Given the description of an element on the screen output the (x, y) to click on. 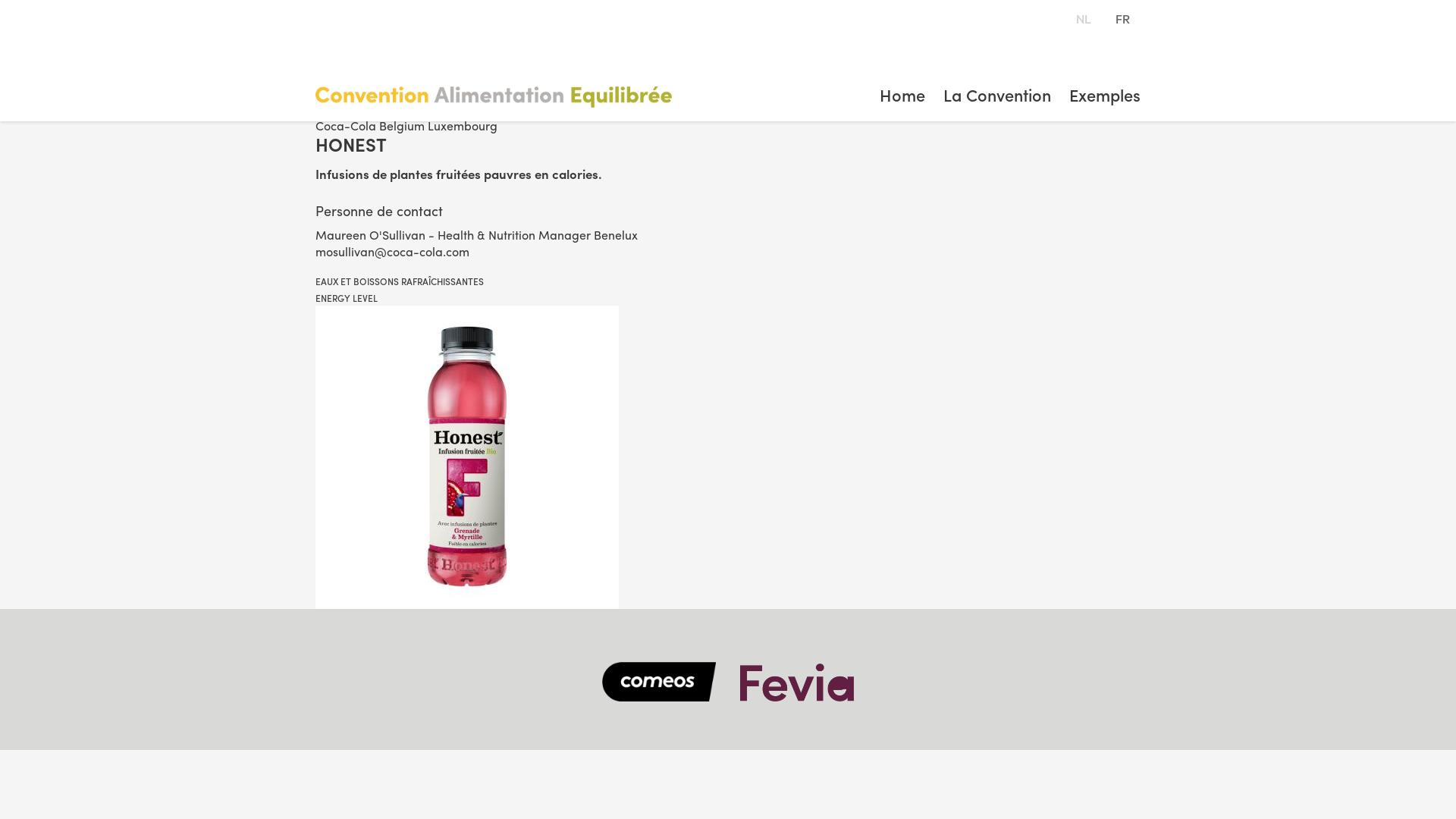
Exemples Element type: text (1104, 103)
Comeos Element type: text (658, 681)
Home Element type: text (902, 103)
NL Element type: text (1082, 18)
La Convention Element type: text (997, 103)
Convention Alimentation Equilibree Element type: text (530, 96)
Fevia Element type: text (796, 682)
FR Element type: text (1122, 18)
